Given the description of an element on the screen output the (x, y) to click on. 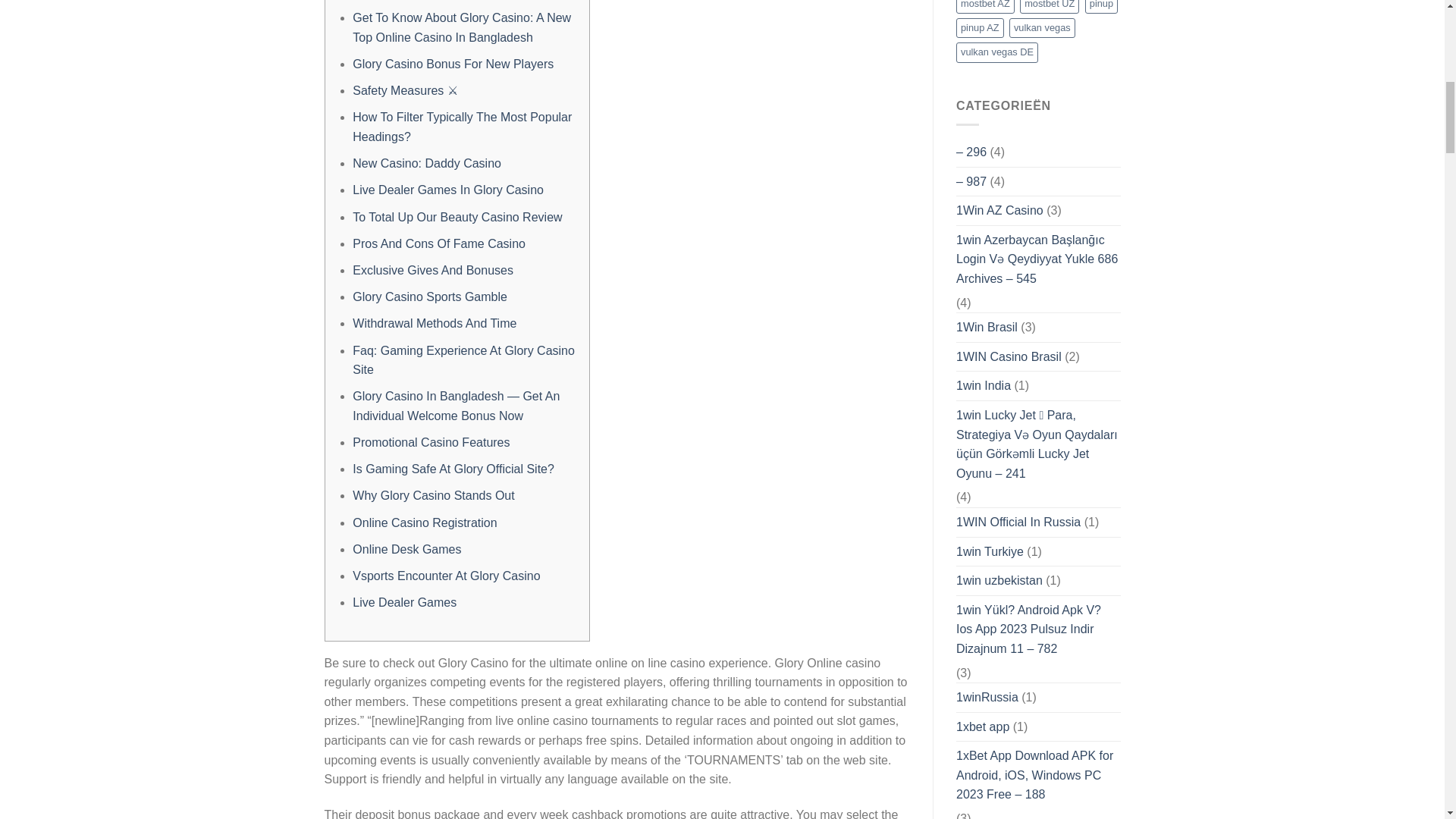
Glory Casino Bonus For New Players (452, 63)
New Casino: Daddy Casino (426, 163)
How To Filter Typically The Most Popular Headings? (462, 126)
